Given the description of an element on the screen output the (x, y) to click on. 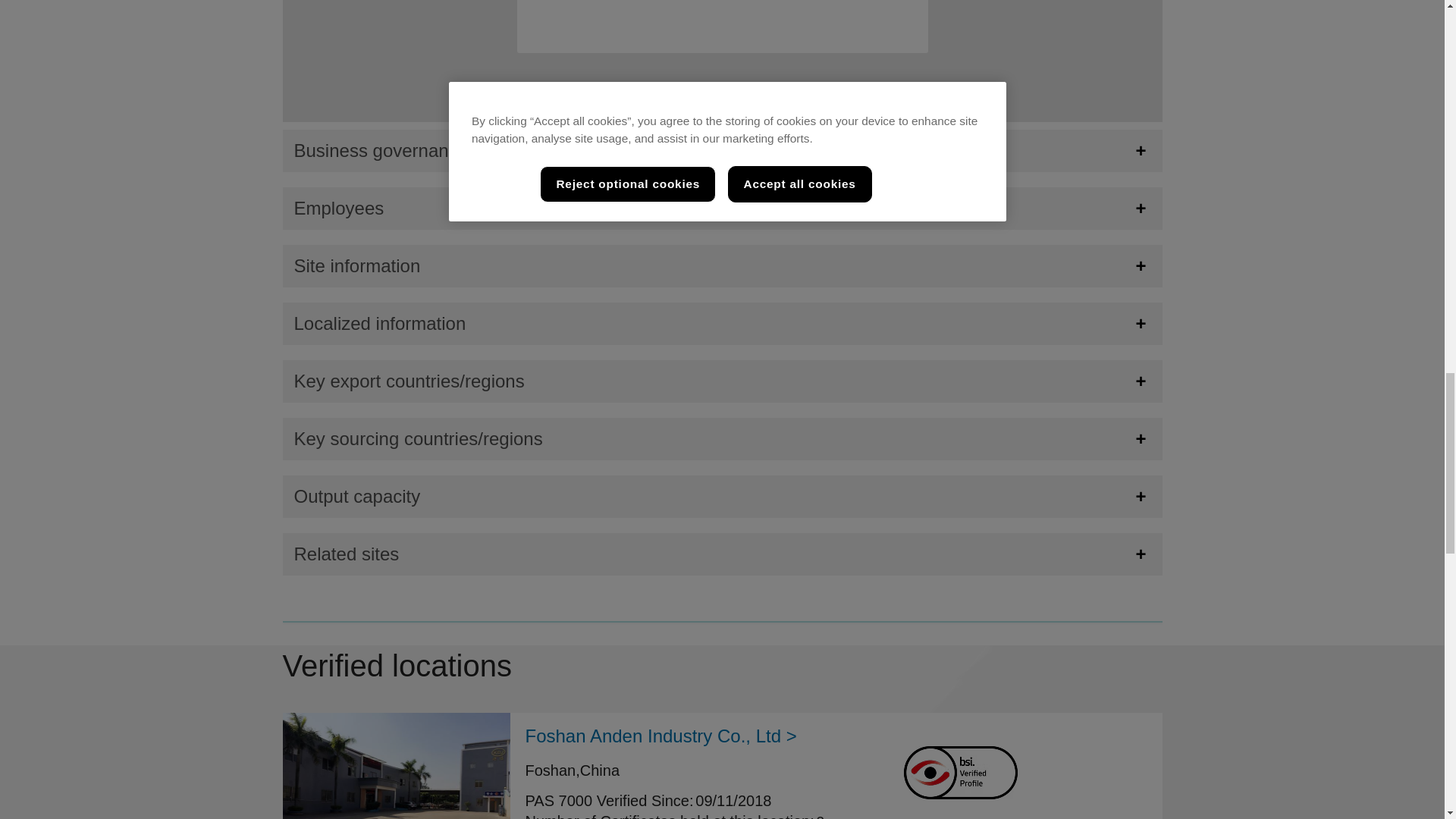
PAS 7000 Verified Since: (608, 800)
Foshan,China (572, 770)
Verified locations (721, 665)
Number of Certificates held at this location: (668, 816)
